Given the description of an element on the screen output the (x, y) to click on. 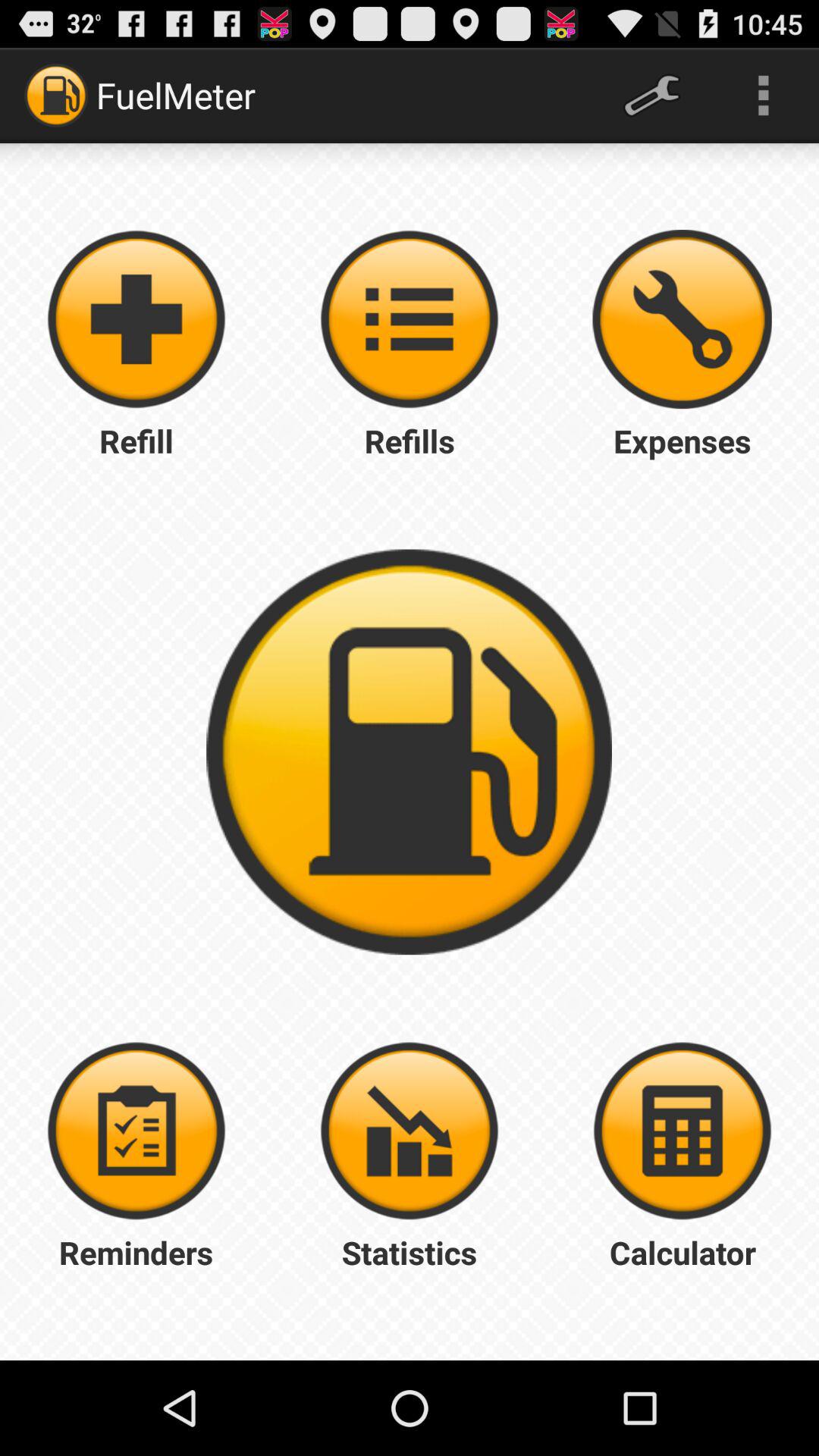
statistics (409, 1130)
